Given the description of an element on the screen output the (x, y) to click on. 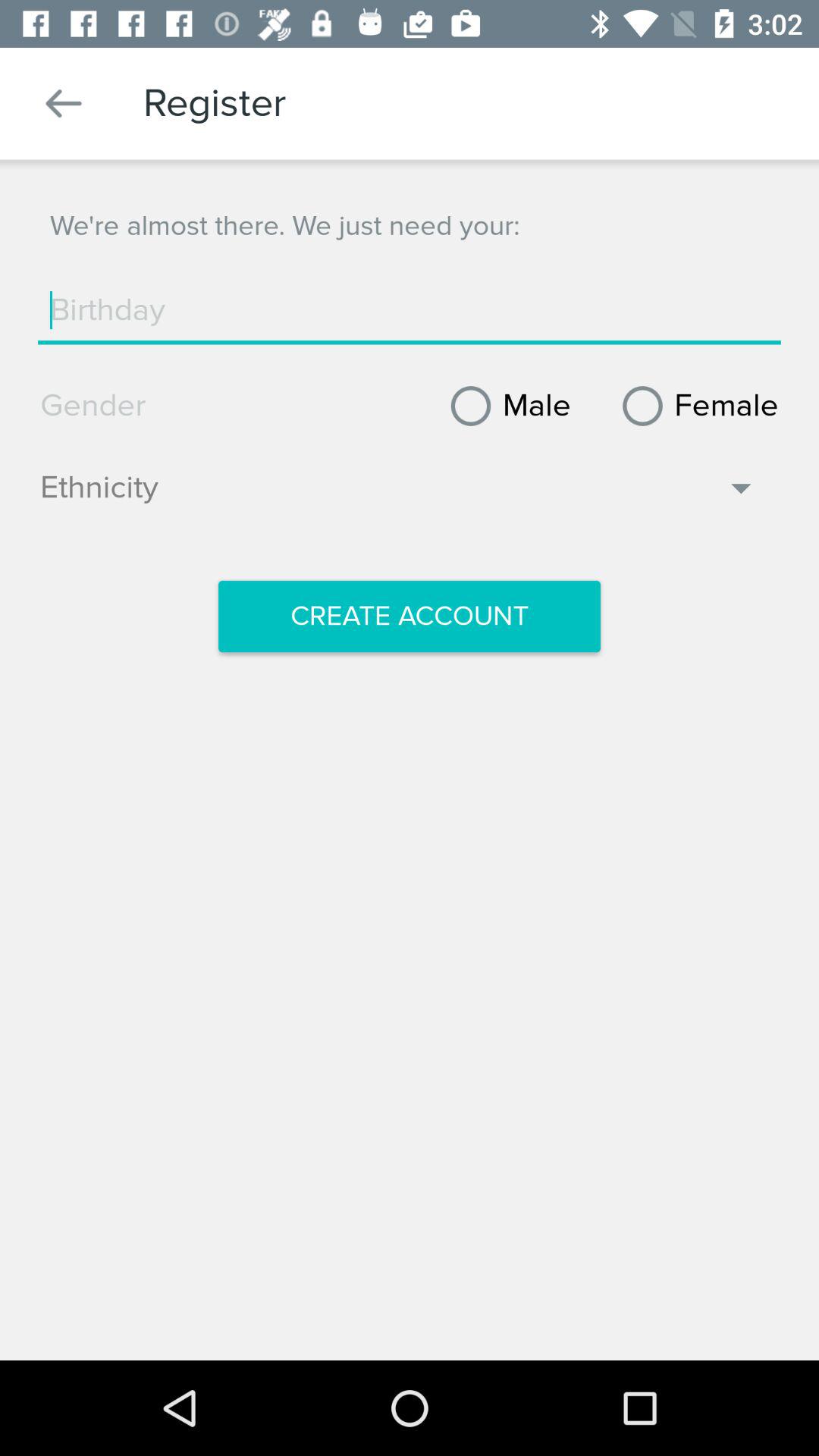
press app to the left of the register (63, 103)
